Given the description of an element on the screen output the (x, y) to click on. 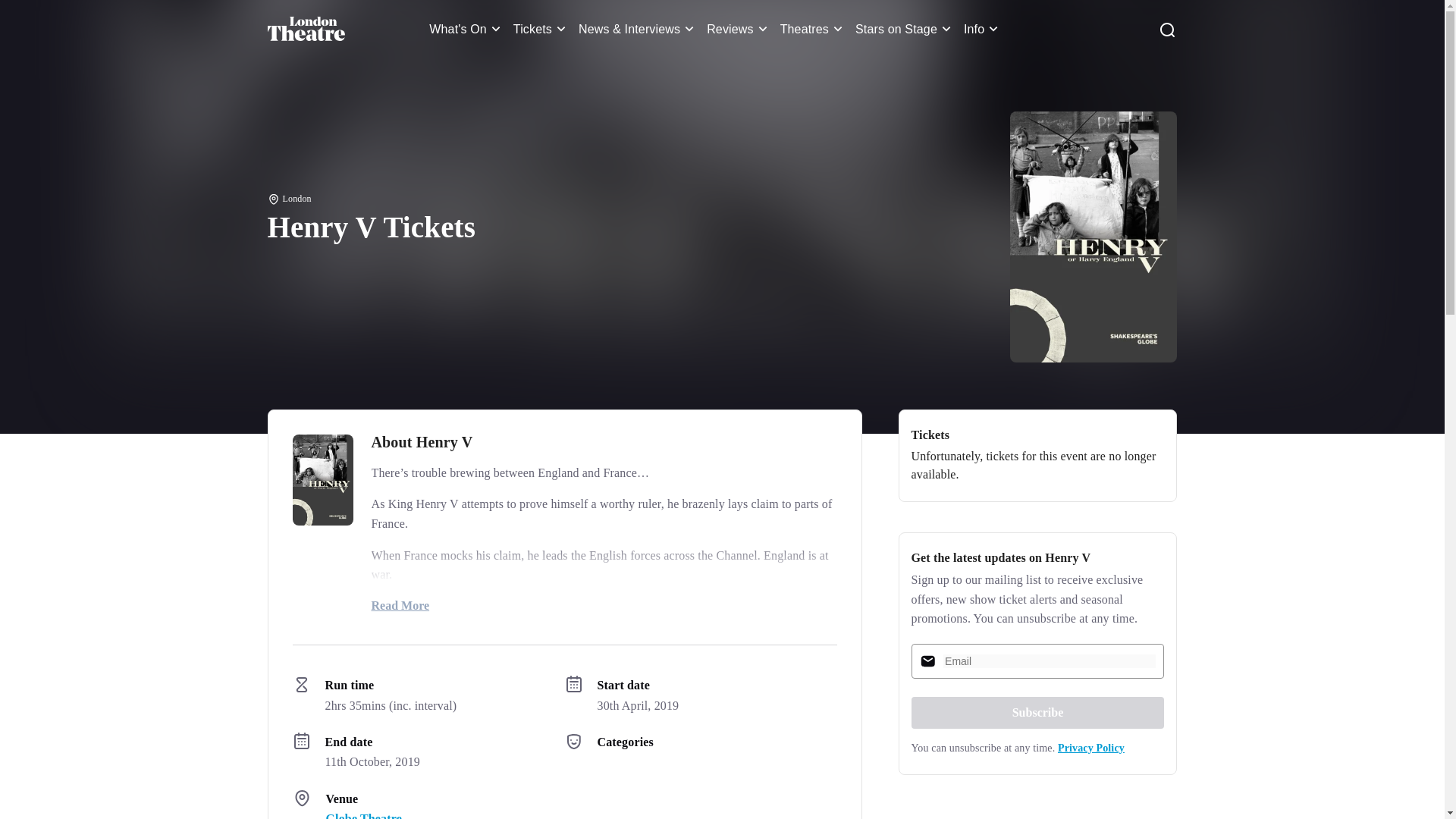
Home (305, 28)
Reviews (739, 28)
Tickets (541, 28)
What's On (467, 28)
